Given the description of an element on the screen output the (x, y) to click on. 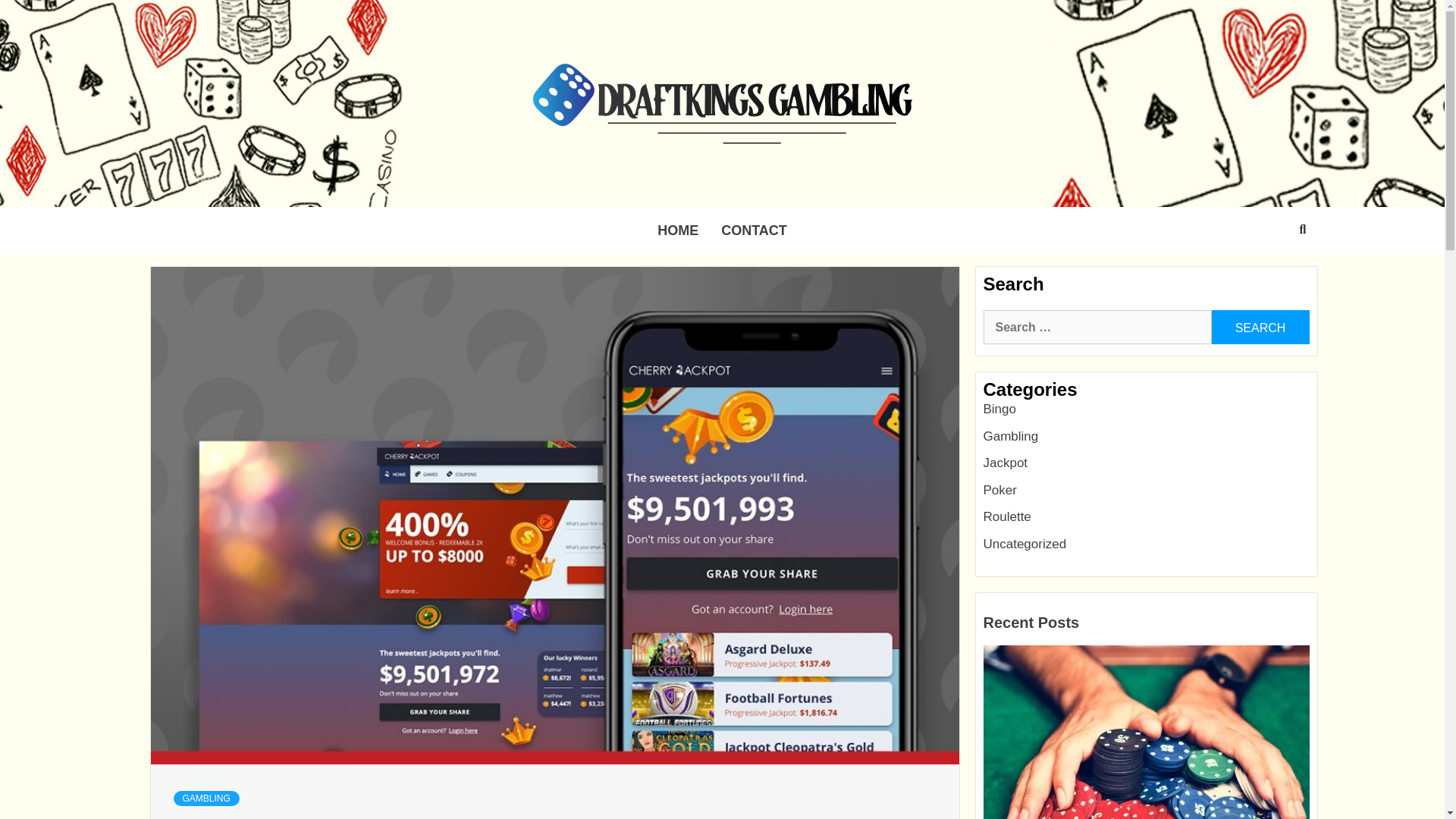
Search (1259, 326)
Jackpot (1004, 462)
Gambling (1010, 436)
HOME (678, 230)
DRAFTKINGS GAMBLING (607, 187)
Roulette (1006, 516)
Uncategorized (1023, 544)
Search (1259, 326)
GAMBLING (205, 798)
Poker (999, 490)
Search (1259, 326)
Bingo (998, 409)
CONTACT (753, 230)
Recent Posts (1032, 622)
